Given the description of an element on the screen output the (x, y) to click on. 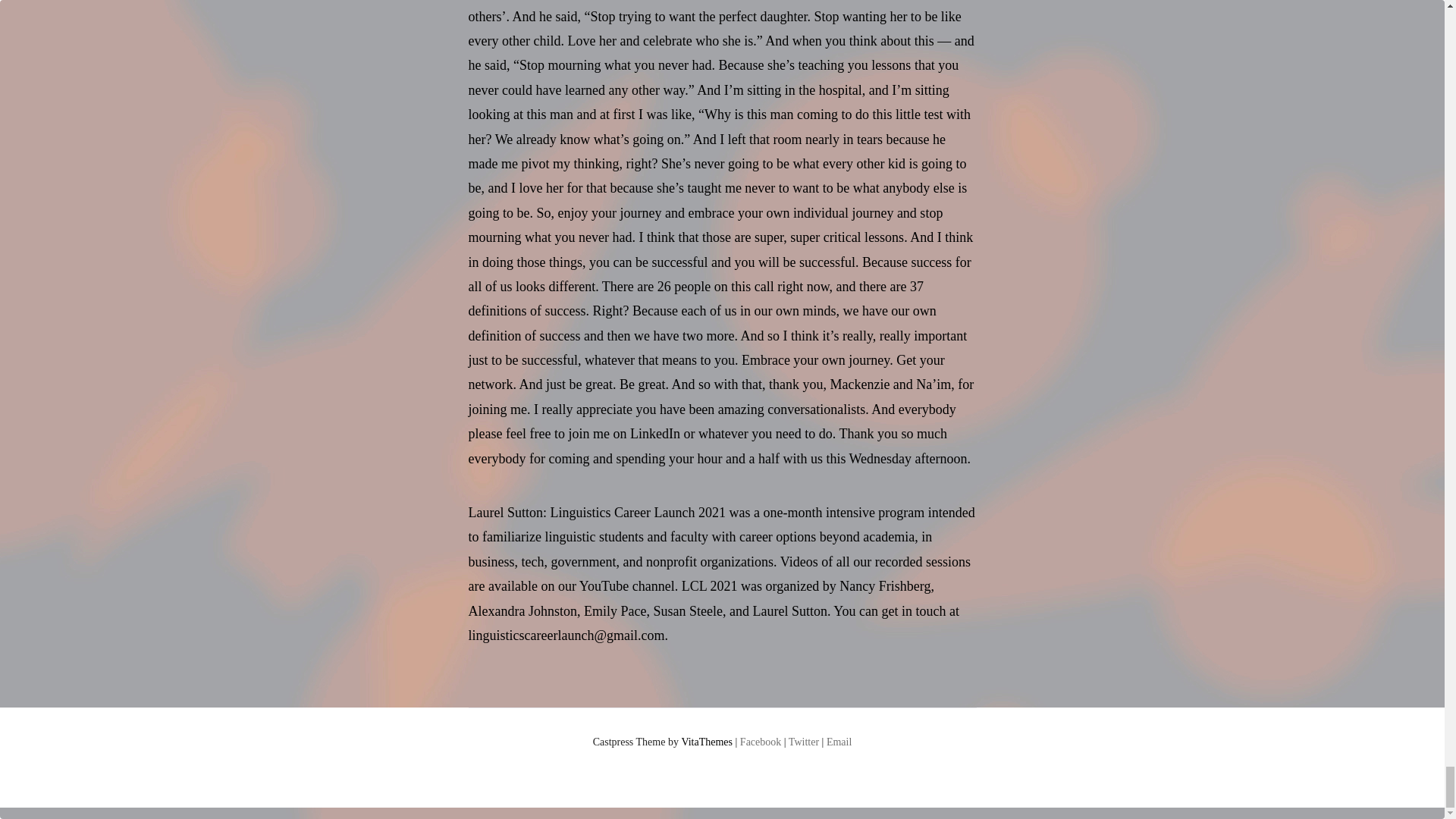
Facebook (759, 741)
Twitter (803, 741)
VitaThemes (706, 741)
Email (839, 741)
